Given the description of an element on the screen output the (x, y) to click on. 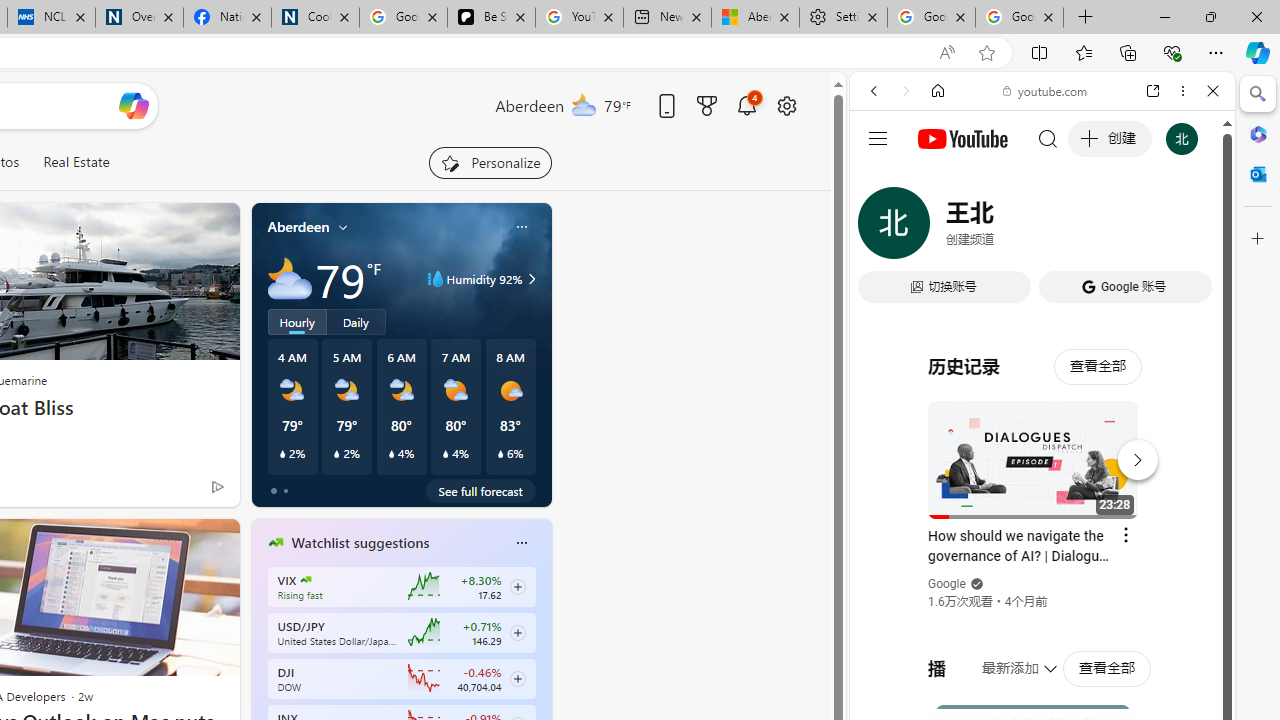
Cookies (315, 17)
previous (261, 670)
youtube.com (1046, 90)
Google (947, 584)
Be Smart | creating Science videos | Patreon (491, 17)
